Given the description of an element on the screen output the (x, y) to click on. 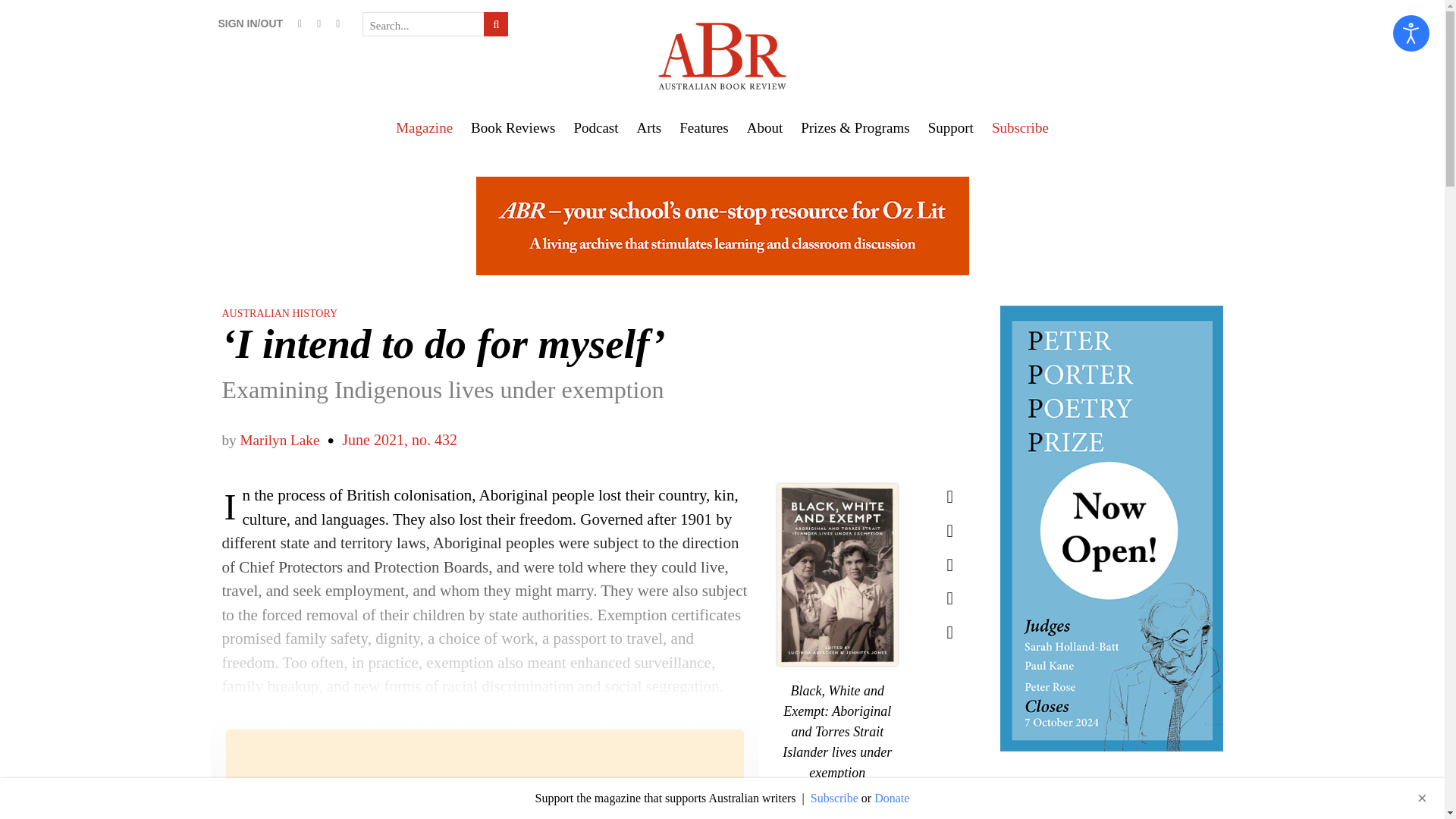
Book Reviews (512, 127)
Open accessibility tools (1411, 33)
Magazine (424, 127)
